Given the description of an element on the screen output the (x, y) to click on. 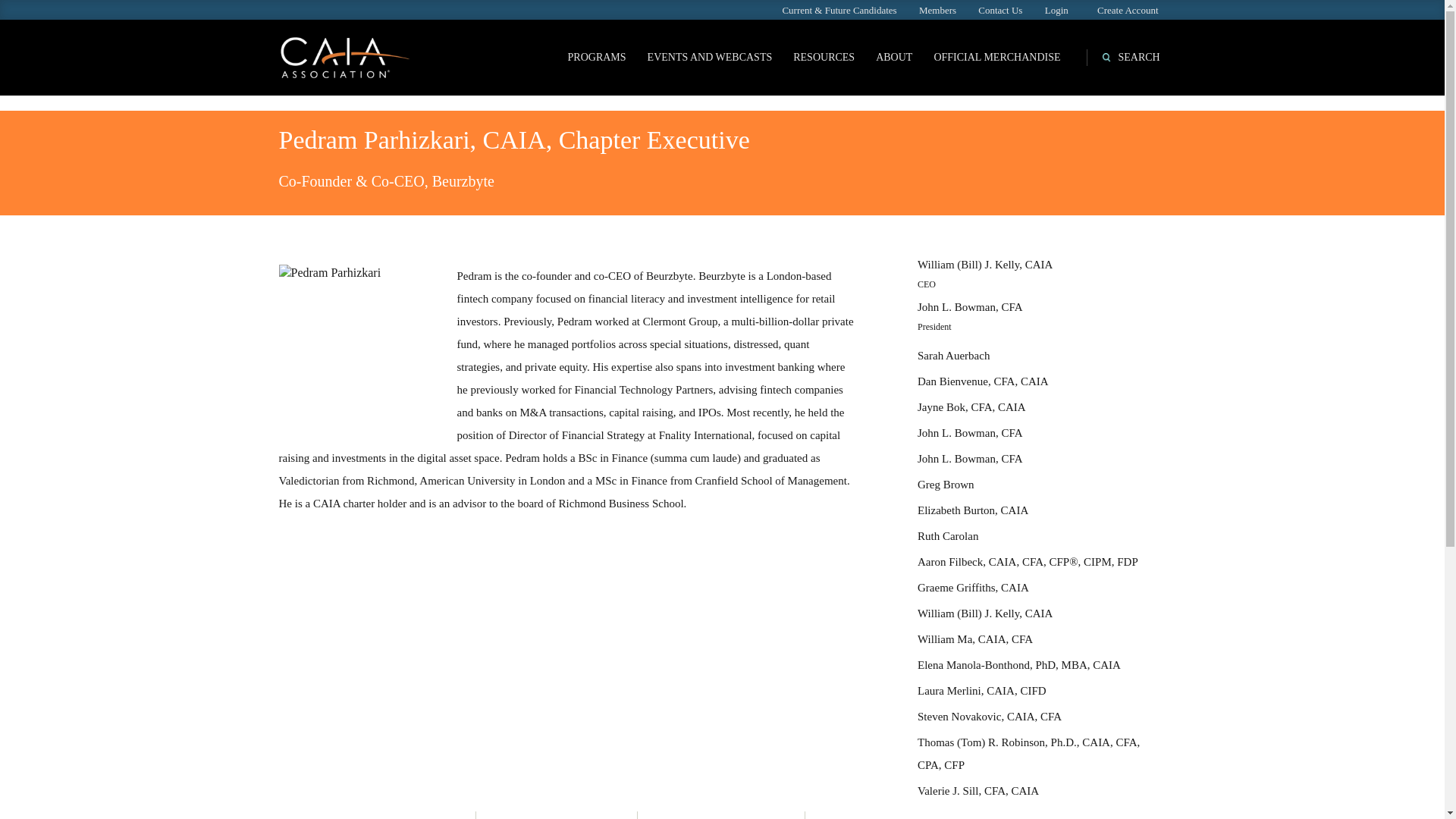
Programs (597, 57)
Resources (823, 57)
Members (937, 9)
Members (937, 9)
About CAIA (893, 57)
OFFICIAL MERCHANDISE (996, 57)
Login (1056, 9)
Create Account (1127, 9)
Contact Us (1000, 9)
